Given the description of an element on the screen output the (x, y) to click on. 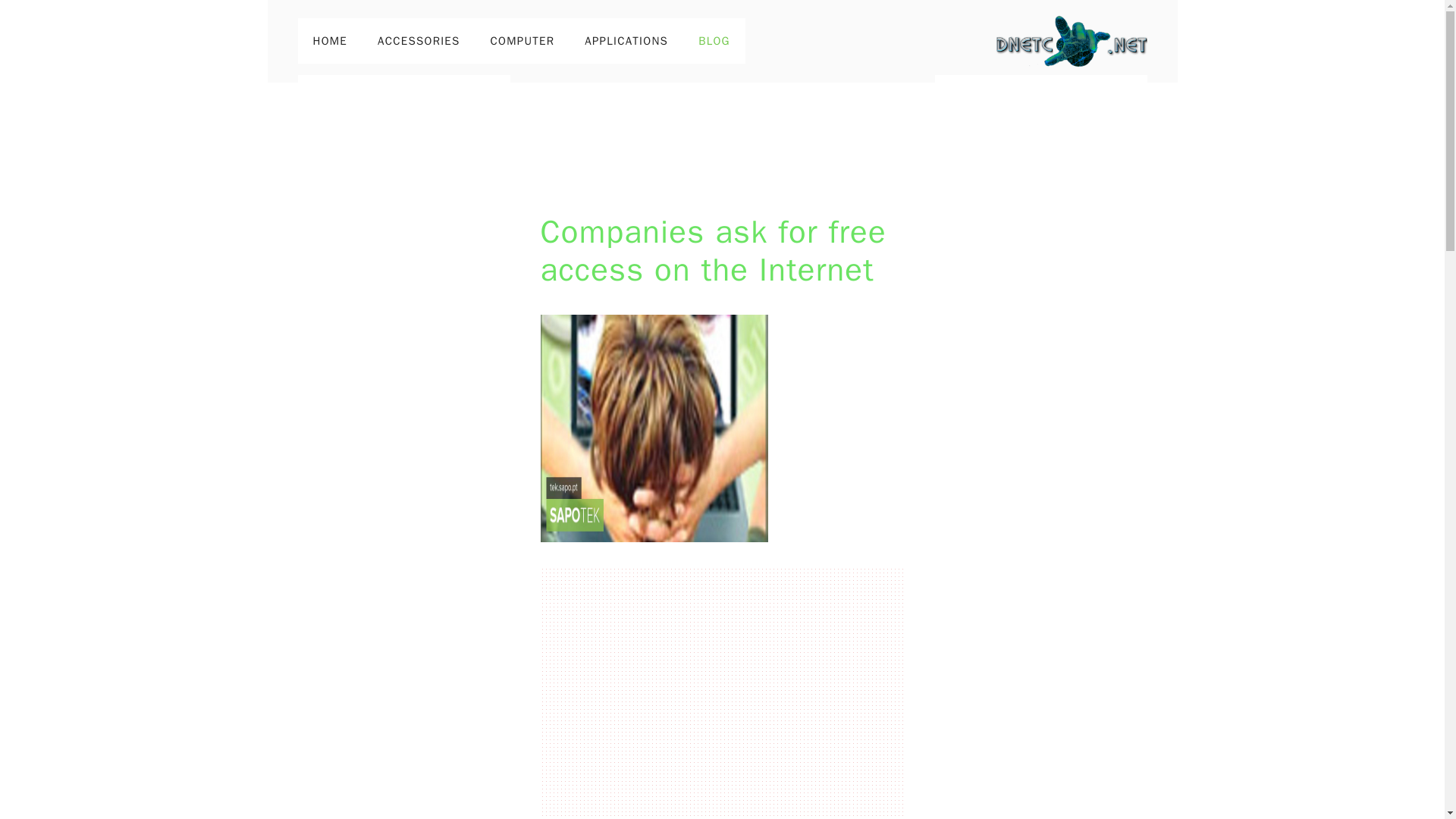
COMPUTER (523, 40)
HOME (329, 40)
APPLICATIONS (625, 40)
ACCESSORIES (419, 40)
BLOG (713, 40)
